Given the description of an element on the screen output the (x, y) to click on. 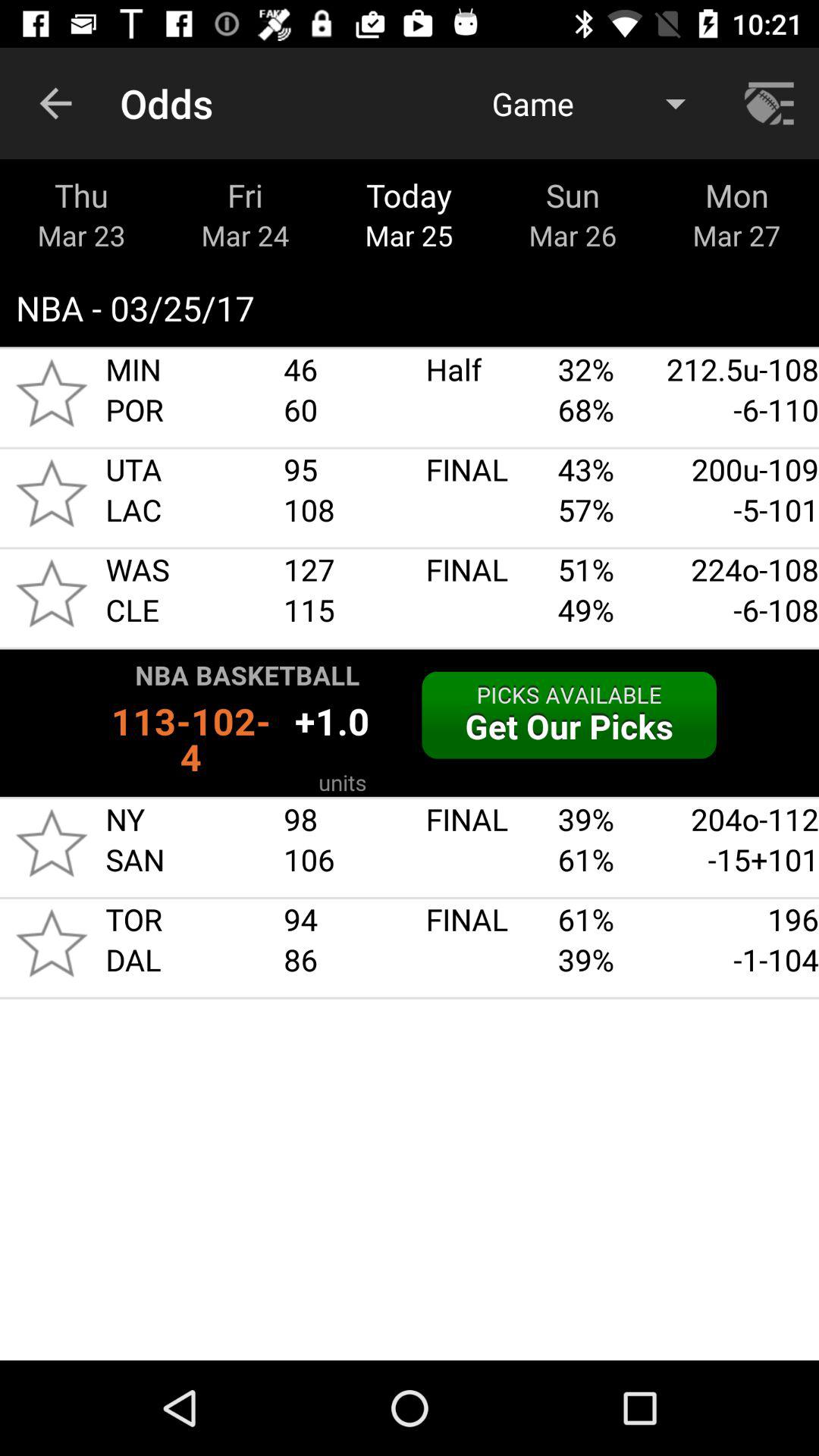
add to favorites (51, 593)
